Given the description of an element on the screen output the (x, y) to click on. 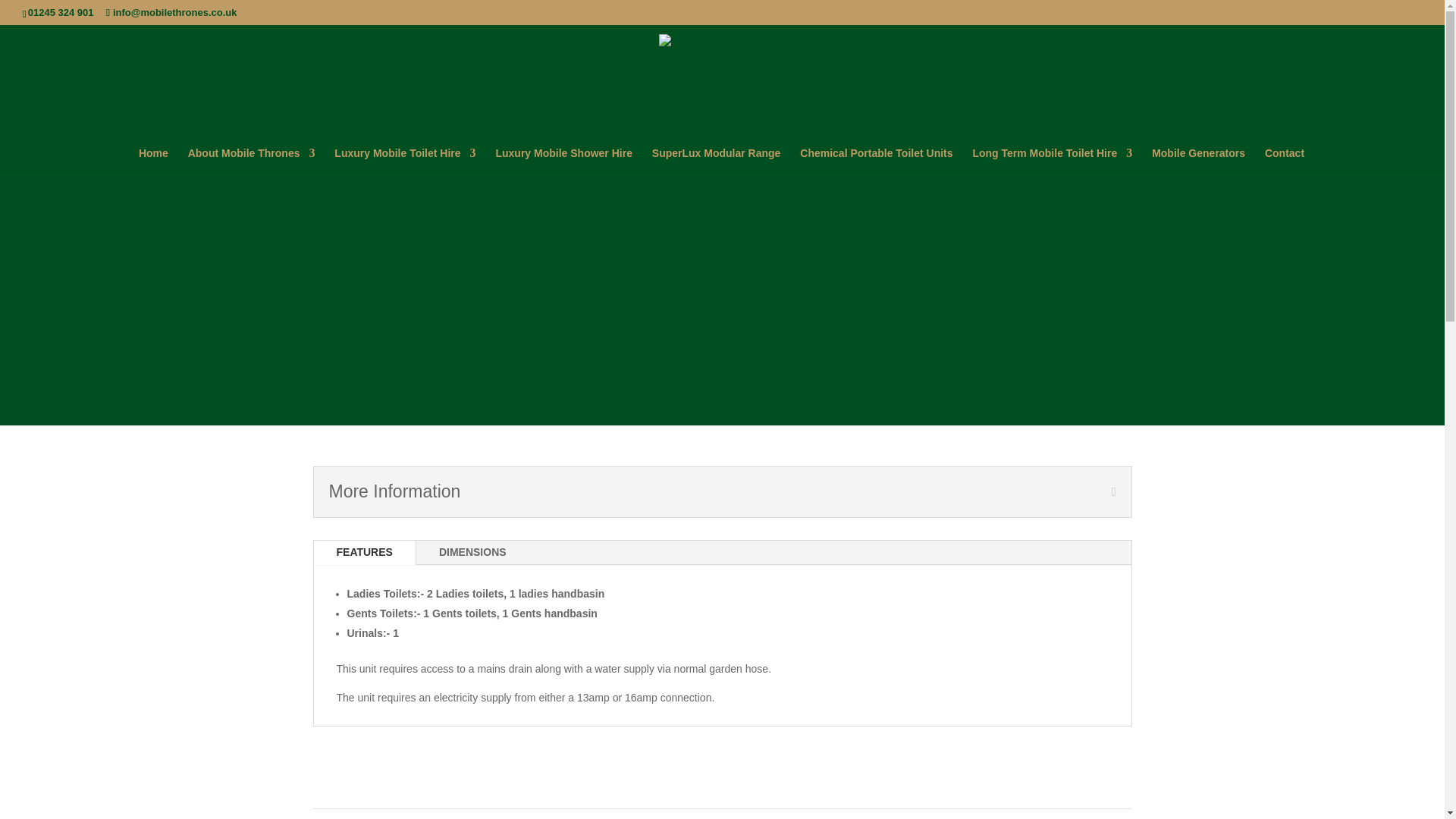
SuperLux Modular Range (716, 157)
Long Term Mobile Toilet Hire (1052, 157)
Luxury Mobile Shower Hire (563, 157)
About Mobile Thrones (251, 157)
Home (153, 157)
FEATURES (364, 552)
DIMENSIONS (472, 552)
Chemical Portable Toilet Units (875, 157)
Mobile Generators (1197, 157)
Contact (1284, 157)
Luxury Mobile Toilet Hire (405, 157)
